Given the description of an element on the screen output the (x, y) to click on. 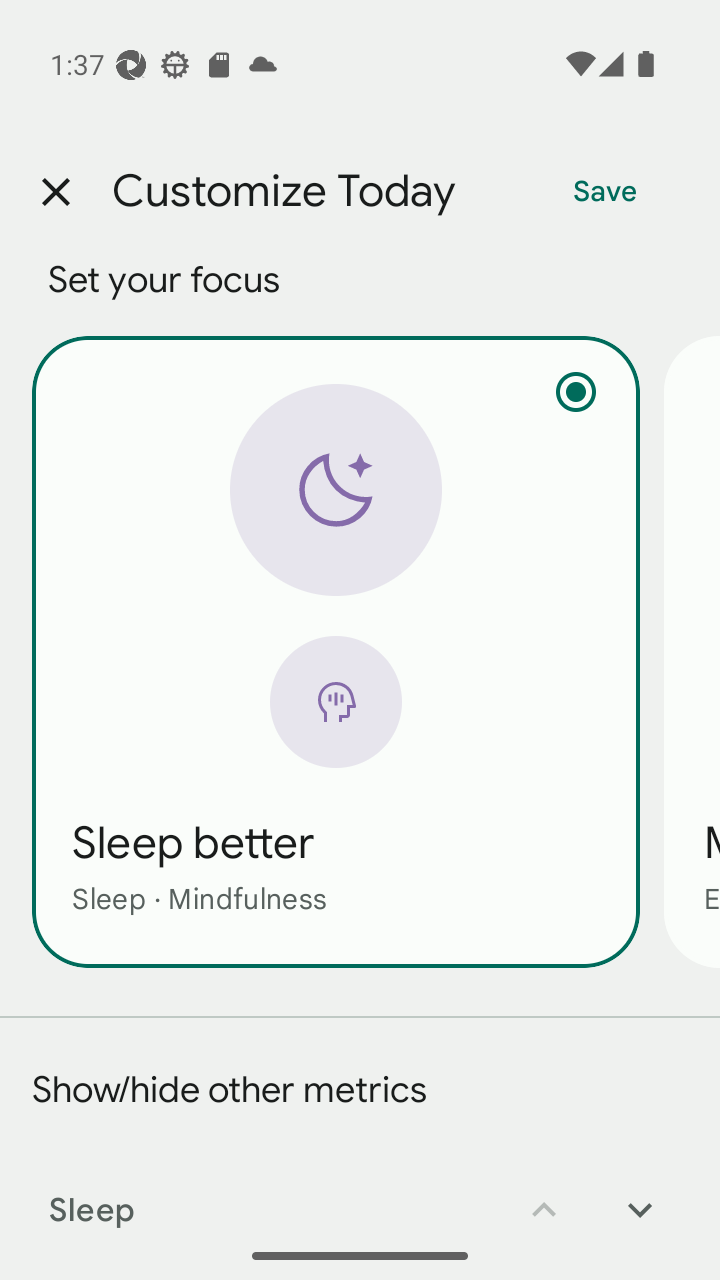
Close (55, 191)
Save (605, 191)
Sleep better Sleep · Mindfulness (335, 651)
Move Sleep up (543, 1196)
Move Sleep down (639, 1196)
